Given the description of an element on the screen output the (x, y) to click on. 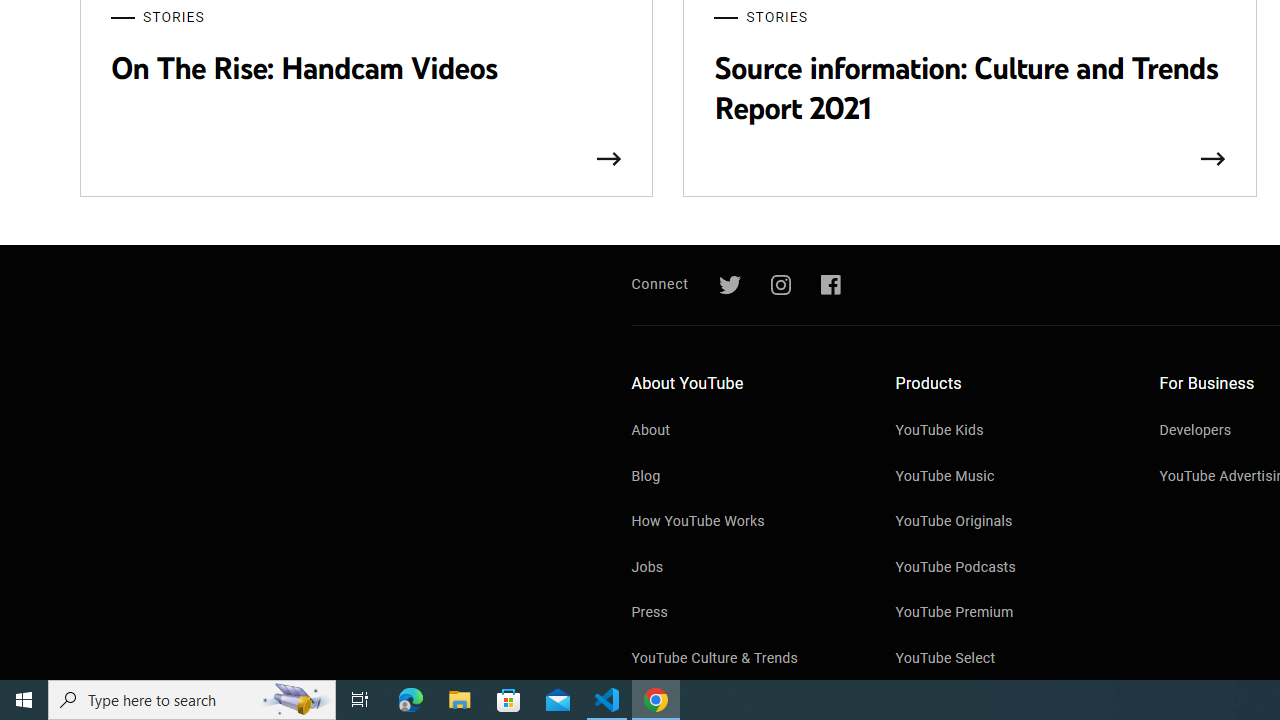
About (743, 431)
